Given the description of an element on the screen output the (x, y) to click on. 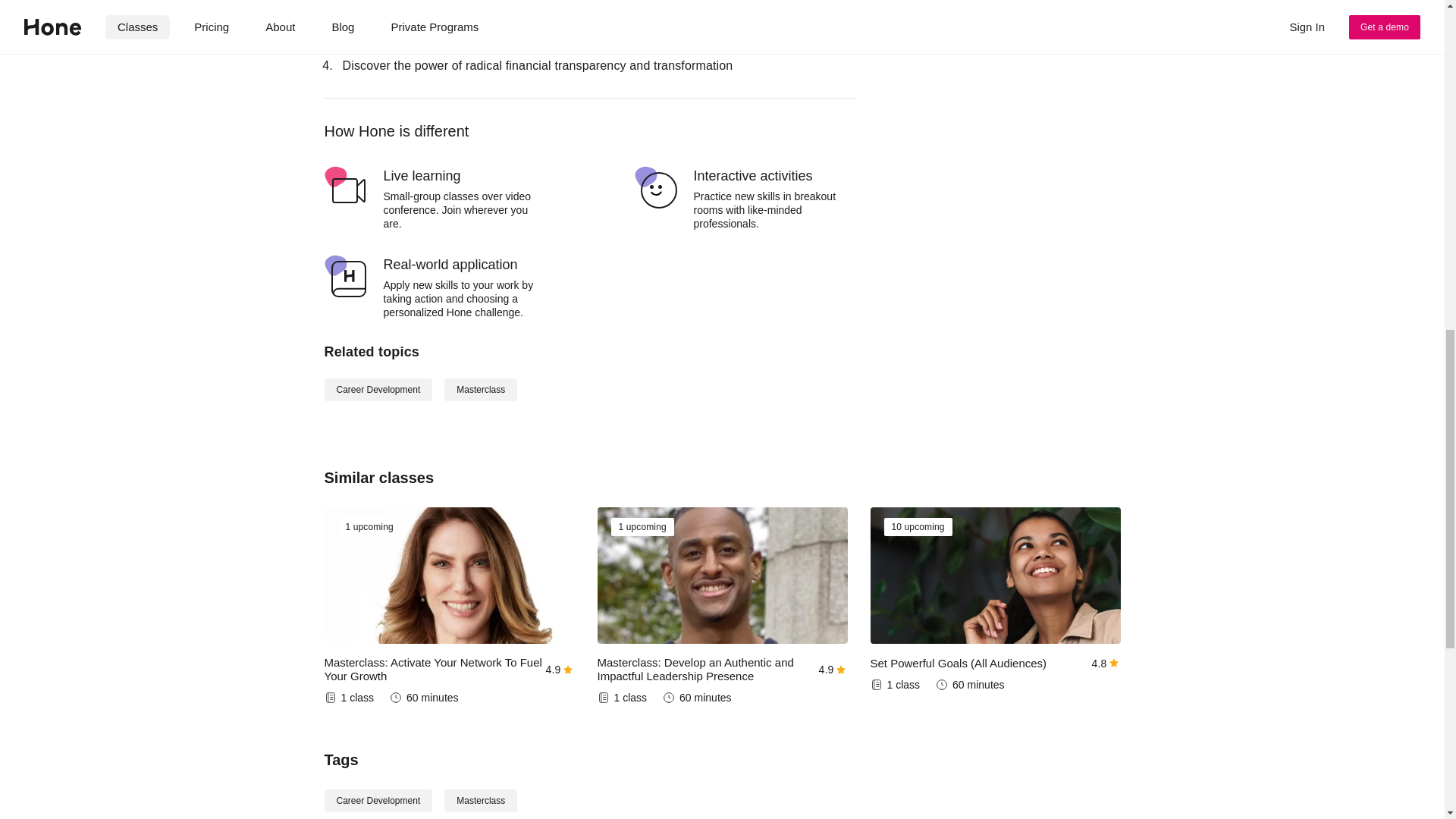
Masterclass (480, 389)
Masterclass (480, 800)
Career Development (378, 389)
Career Development (378, 800)
